Given the description of an element on the screen output the (x, y) to click on. 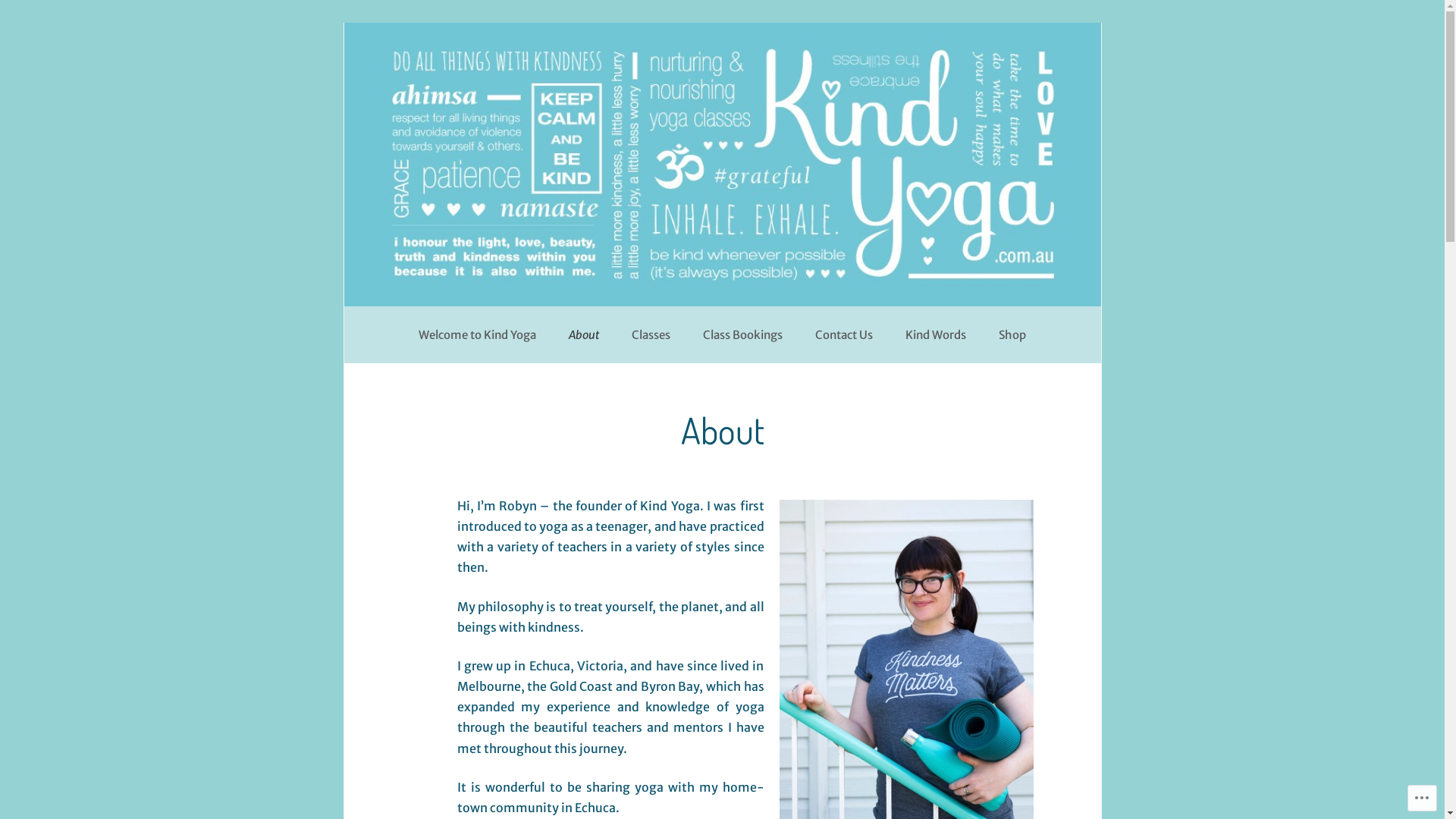
Kind Words Element type: text (935, 334)
Shop Element type: text (1012, 334)
About Element type: text (583, 334)
Welcome to Kind Yoga Element type: text (477, 334)
Classes Element type: text (650, 334)
Contact Us Element type: text (844, 334)
Class Bookings Element type: text (742, 334)
Kind Yoga
Yoga classes with Robyn Bell in Echuca, Victoria. Element type: text (722, 45)
